Given the description of an element on the screen output the (x, y) to click on. 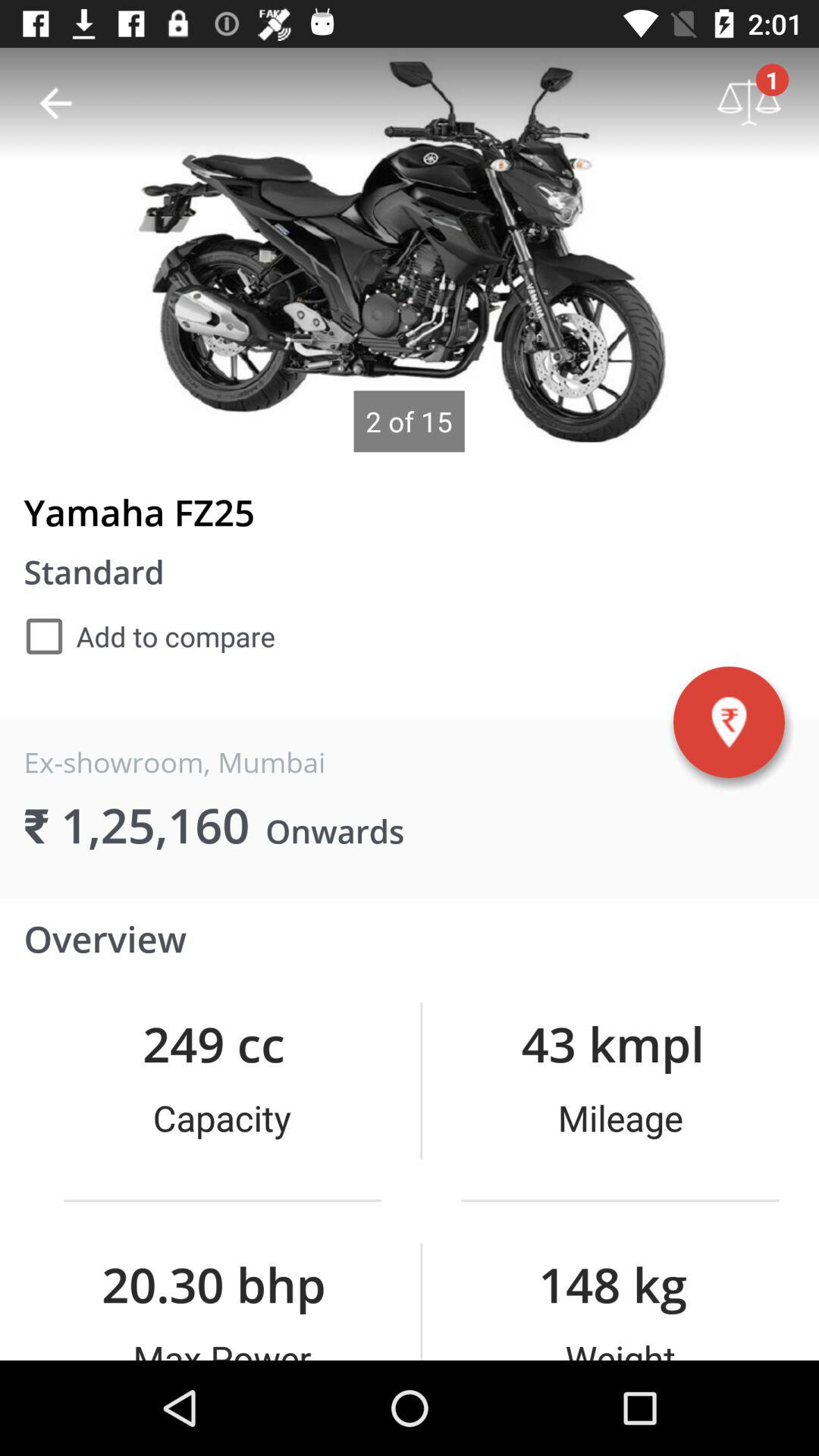
picture space display (409, 249)
